Given the description of an element on the screen output the (x, y) to click on. 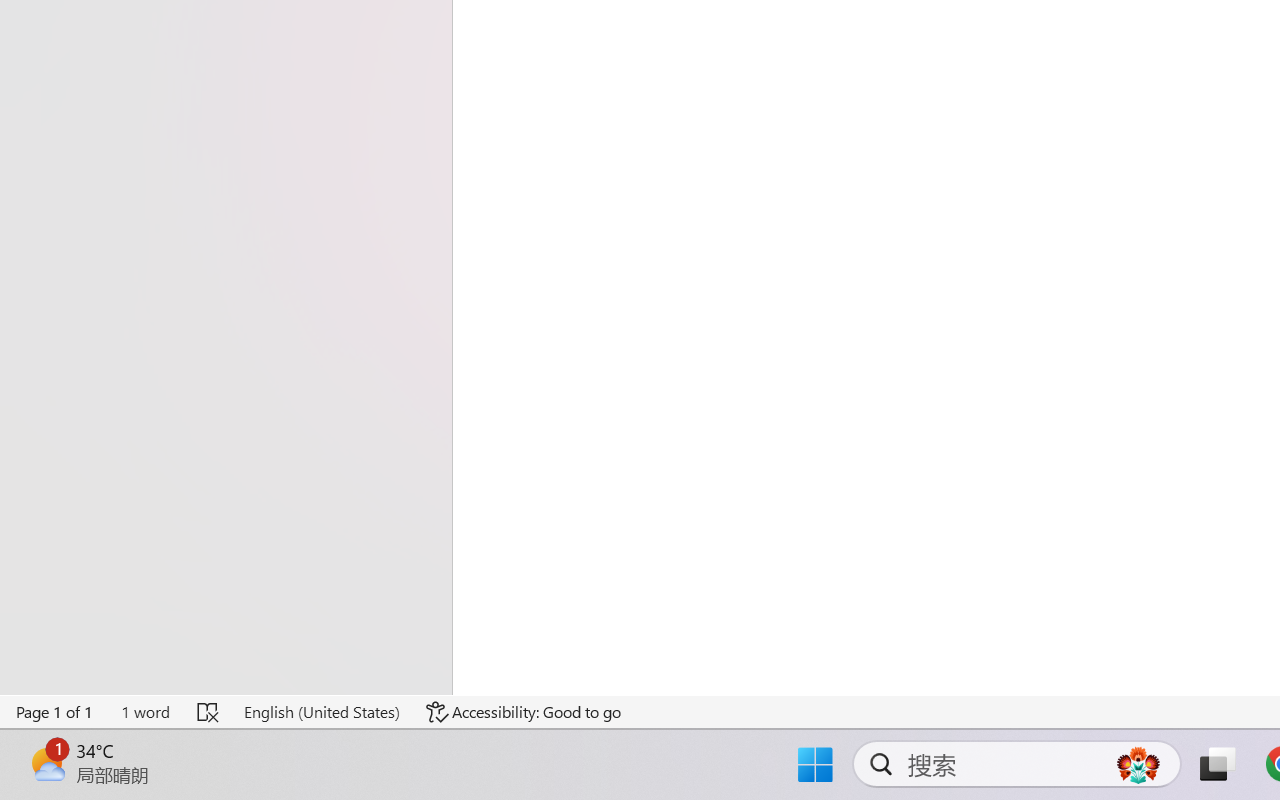
Spelling and Grammar Check Errors (208, 712)
